Given the description of an element on the screen output the (x, y) to click on. 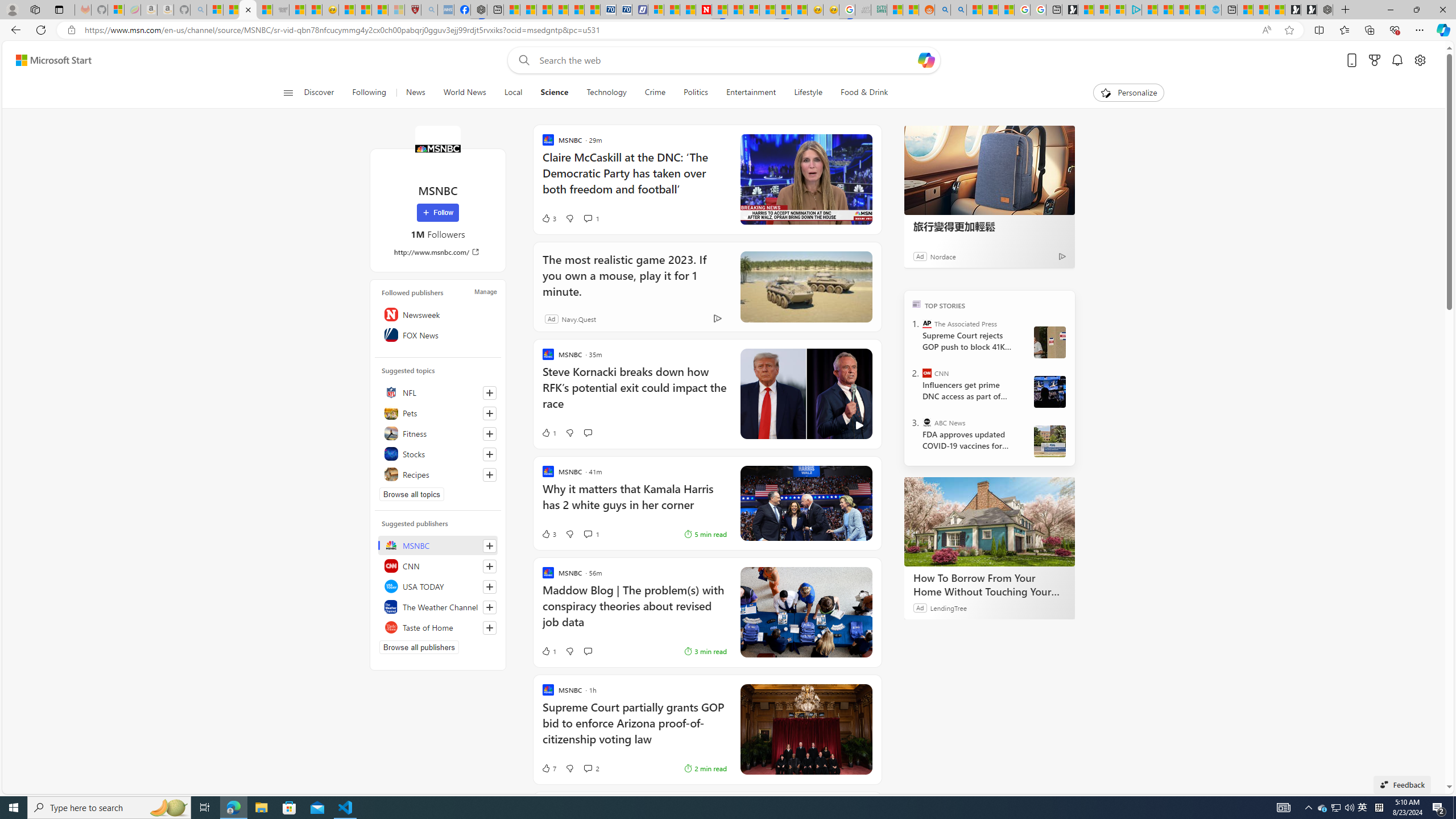
World News (464, 92)
Skip to content (49, 59)
Newsweek - News, Analysis, Politics, Business, Technology (703, 9)
Utah sues federal government - Search (958, 9)
Manage (485, 291)
Play Free Online Games | Games from Microsoft Start (1308, 9)
Science (554, 92)
Open navigation menu (287, 92)
Home | Sky Blue Bikes - Sky Blue Bikes (1213, 9)
Crime (655, 92)
